Given the description of an element on the screen output the (x, y) to click on. 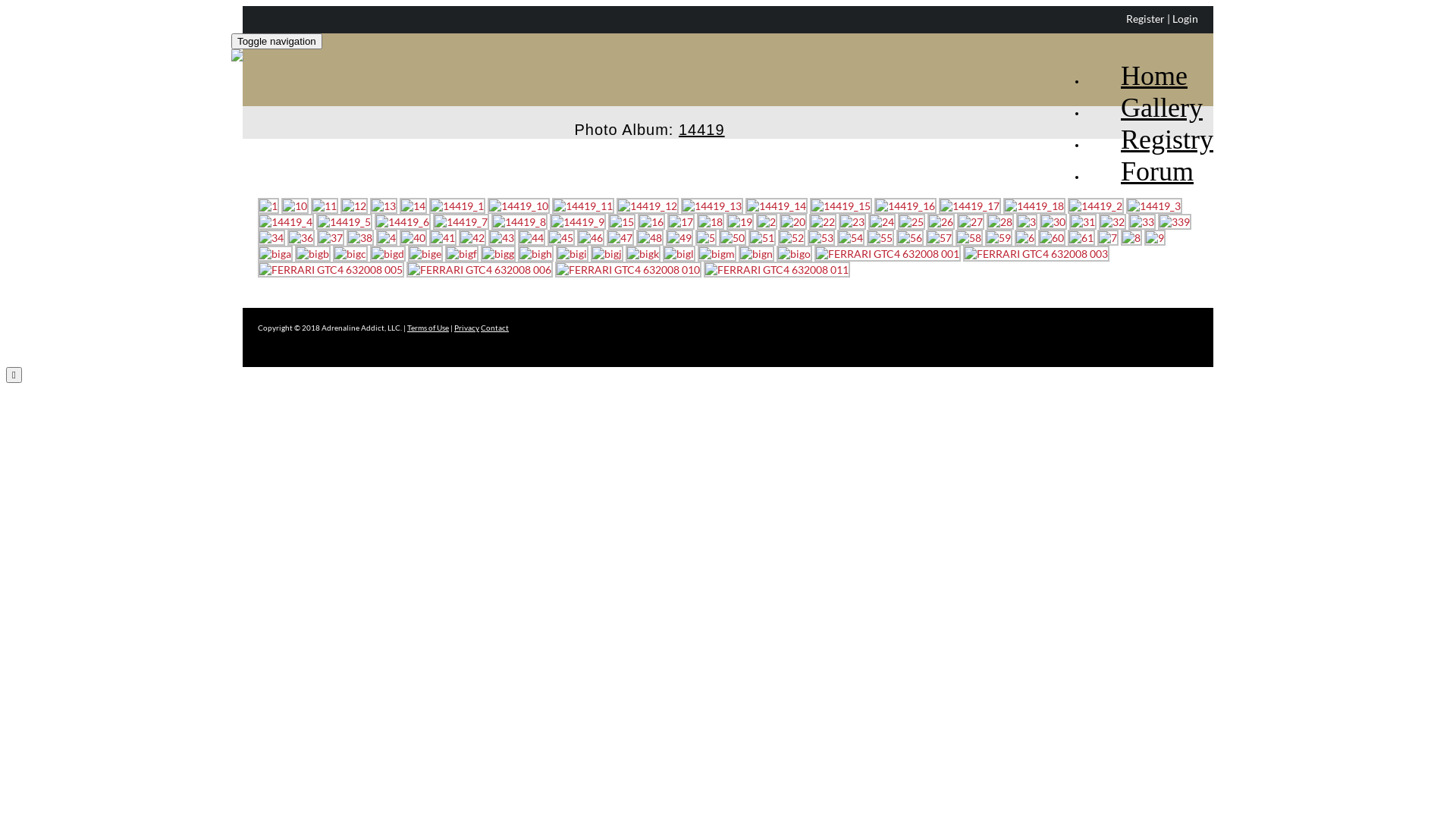
16 (click to enlarge) Element type: hover (651, 221)
FERRARI GTC4 632008 005 (click to enlarge) Element type: hover (330, 269)
14419_14 (click to enlarge) Element type: hover (776, 205)
17 (click to enlarge) Element type: hover (680, 221)
1 (click to enlarge) Element type: hover (268, 205)
23 (click to enlarge) Element type: hover (852, 221)
10 (click to enlarge) Element type: hover (294, 205)
52 (click to enlarge) Element type: hover (791, 237)
38 (click to enlarge) Element type: hover (359, 237)
30 (click to enlarge) Element type: hover (1052, 221)
biga (click to enlarge) Element type: hover (274, 253)
9 (click to enlarge) Element type: hover (1154, 237)
36 (click to enlarge) Element type: hover (300, 237)
bigc (click to enlarge) Element type: hover (349, 253)
61 (click to enlarge) Element type: hover (1081, 237)
49 (click to enlarge) Element type: hover (679, 237)
bigb (click to enlarge) Element type: hover (312, 253)
bigo (click to enlarge) Element type: hover (794, 253)
Login Element type: text (1185, 18)
11 (click to enlarge) Element type: hover (324, 205)
7 (click to enlarge) Element type: hover (1107, 237)
3 (click to enlarge) Element type: hover (1026, 221)
14419_9 (click to enlarge) Element type: hover (577, 221)
18 (click to enlarge) Element type: hover (710, 221)
57 (click to enlarge) Element type: hover (939, 237)
27 (click to enlarge) Element type: hover (970, 221)
15 (click to enlarge) Element type: hover (621, 221)
bigm (click to enlarge) Element type: hover (716, 253)
47 (click to enlarge) Element type: hover (619, 237)
44 (click to enlarge) Element type: hover (531, 237)
56 (click to enlarge) Element type: hover (909, 237)
5 (click to enlarge) Element type: hover (705, 237)
43 (click to enlarge) Element type: hover (501, 237)
14419_7 (click to enlarge) Element type: hover (461, 221)
59 (click to enlarge) Element type: hover (998, 237)
Privacy Element type: text (466, 327)
14419_5 (click to enlarge) Element type: hover (344, 221)
Forum Element type: text (1139, 157)
28 (click to enlarge) Element type: hover (999, 221)
Contact Element type: text (494, 327)
34 (click to enlarge) Element type: hover (271, 237)
FERRARI GTC4 632008 001 (click to enlarge) Element type: hover (887, 253)
37 (click to enlarge) Element type: hover (330, 237)
FERRARI GTC4 632008 006 (click to enlarge) Element type: hover (479, 269)
bigi (click to enlarge) Element type: hover (571, 253)
14419_16 (click to enlarge) Element type: hover (905, 205)
bigj (click to enlarge) Element type: hover (606, 253)
Registry Element type: text (1149, 125)
45 (click to enlarge) Element type: hover (560, 237)
26 (click to enlarge) Element type: hover (940, 221)
Toggle navigation Element type: text (276, 41)
41 (click to enlarge) Element type: hover (442, 237)
bigh (click to enlarge) Element type: hover (535, 253)
22 (click to enlarge) Element type: hover (822, 221)
bign (click to enlarge) Element type: hover (756, 253)
14419 Element type: text (701, 122)
bigg (click to enlarge) Element type: hover (497, 253)
24 (click to enlarge) Element type: hover (881, 221)
bigd (click to enlarge) Element type: hover (387, 253)
bigk (click to enlarge) Element type: hover (642, 253)
14419_4 (click to enlarge) Element type: hover (285, 221)
14419_11 (click to enlarge) Element type: hover (583, 205)
14419_2 (click to enlarge) Element type: hover (1095, 205)
60 (click to enlarge) Element type: hover (1051, 237)
14419_17 (click to enlarge) Element type: hover (969, 205)
53 (click to enlarge) Element type: hover (820, 237)
20 (click to enlarge) Element type: hover (792, 221)
14419_3 (click to enlarge) Element type: hover (1154, 205)
46 (click to enlarge) Element type: hover (590, 237)
Register Element type: text (1145, 18)
48 (click to enlarge) Element type: hover (649, 237)
bige (click to enlarge) Element type: hover (424, 253)
2 (click to enlarge) Element type: hover (766, 221)
14419_13 (click to enlarge) Element type: hover (711, 205)
13 (click to enlarge) Element type: hover (383, 205)
25 (click to enlarge) Element type: hover (911, 221)
19 (click to enlarge) Element type: hover (739, 221)
14419_10 (click to enlarge) Element type: hover (518, 205)
Terms of Use Element type: text (427, 327)
12 (click to enlarge) Element type: hover (353, 205)
14419_15 (click to enlarge) Element type: hover (840, 205)
4 (click to enlarge) Element type: hover (386, 237)
bigf (click to enlarge) Element type: hover (461, 253)
8 (click to enlarge) Element type: hover (1131, 237)
32 (click to enlarge) Element type: hover (1112, 221)
14419_8 (click to enlarge) Element type: hover (519, 221)
14419_6 (click to enlarge) Element type: hover (402, 221)
54 (click to enlarge) Element type: hover (850, 237)
40 (click to enlarge) Element type: hover (412, 237)
14 (click to enlarge) Element type: hover (412, 205)
Home Element type: text (1136, 62)
31 (click to enlarge) Element type: hover (1082, 221)
14419_1 (click to enlarge) Element type: hover (457, 205)
33 (click to enlarge) Element type: hover (1141, 221)
50 (click to enlarge) Element type: hover (732, 237)
42 (click to enlarge) Element type: hover (472, 237)
FERRARI GTC4 632008 011 (click to enlarge) Element type: hover (776, 269)
51 (click to enlarge) Element type: hover (761, 237)
339 (click to enlarge) Element type: hover (1174, 221)
14419_12 (click to enlarge) Element type: hover (647, 205)
Gallery Element type: text (1144, 93)
14419_18 (click to enlarge) Element type: hover (1034, 205)
55 (click to enlarge) Element type: hover (880, 237)
6 (click to enlarge) Element type: hover (1024, 237)
58 (click to enlarge) Element type: hover (968, 237)
FERRARI GTC4 632008 003 (click to enlarge) Element type: hover (1036, 253)
bigl (click to enlarge) Element type: hover (678, 253)
FERRARI GTC4 632008 010 (click to enlarge) Element type: hover (628, 269)
